Given the description of an element on the screen output the (x, y) to click on. 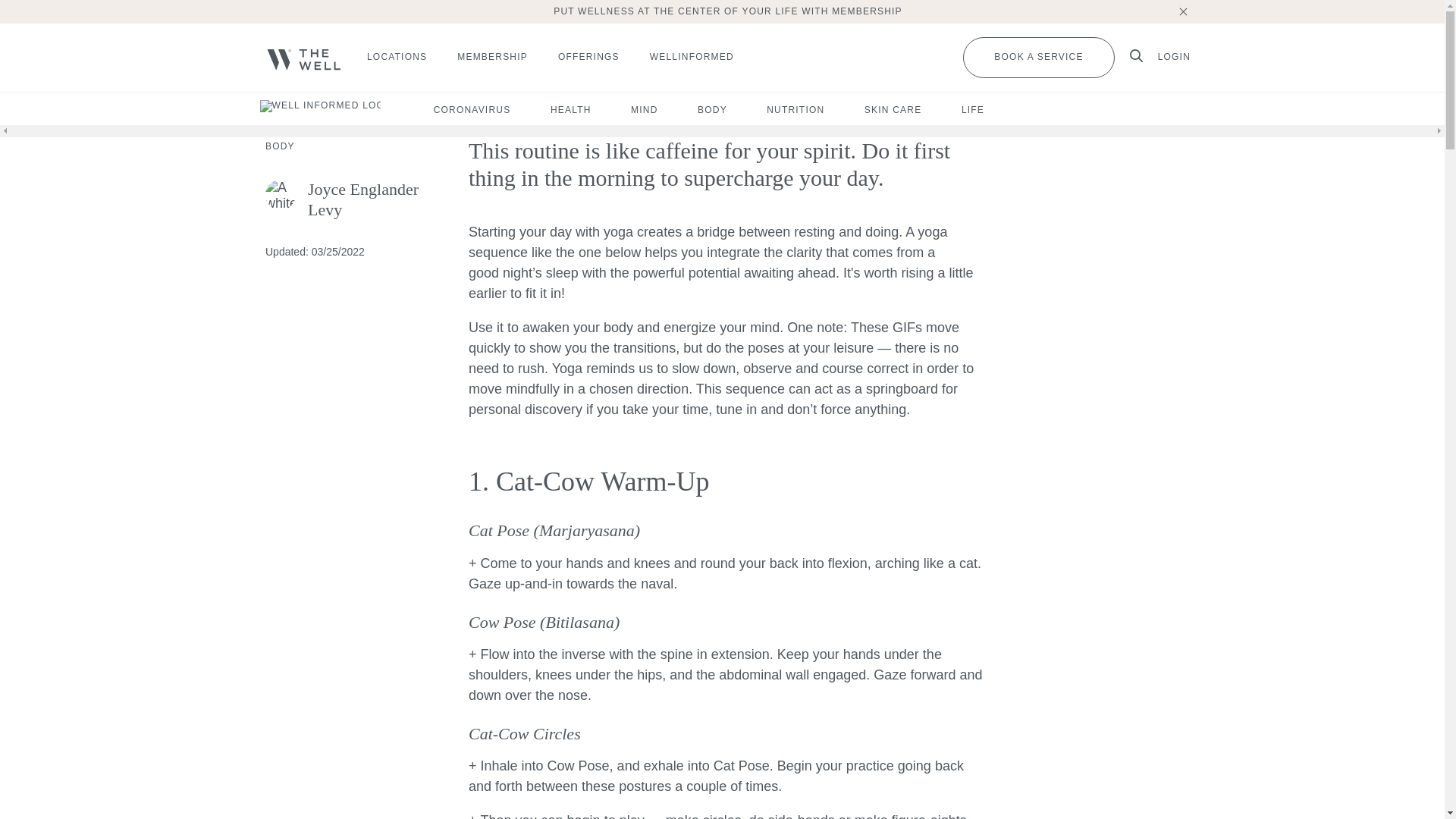
BODY (279, 146)
MEMBERSHIP (492, 57)
BOOK A SERVICE (1037, 56)
NUTRITION (797, 109)
MIND (645, 109)
SKIN CARE (894, 109)
LIFE (972, 109)
LOGIN (1174, 57)
CORONAVIRUS (473, 109)
BODY (713, 109)
